Given the description of an element on the screen output the (x, y) to click on. 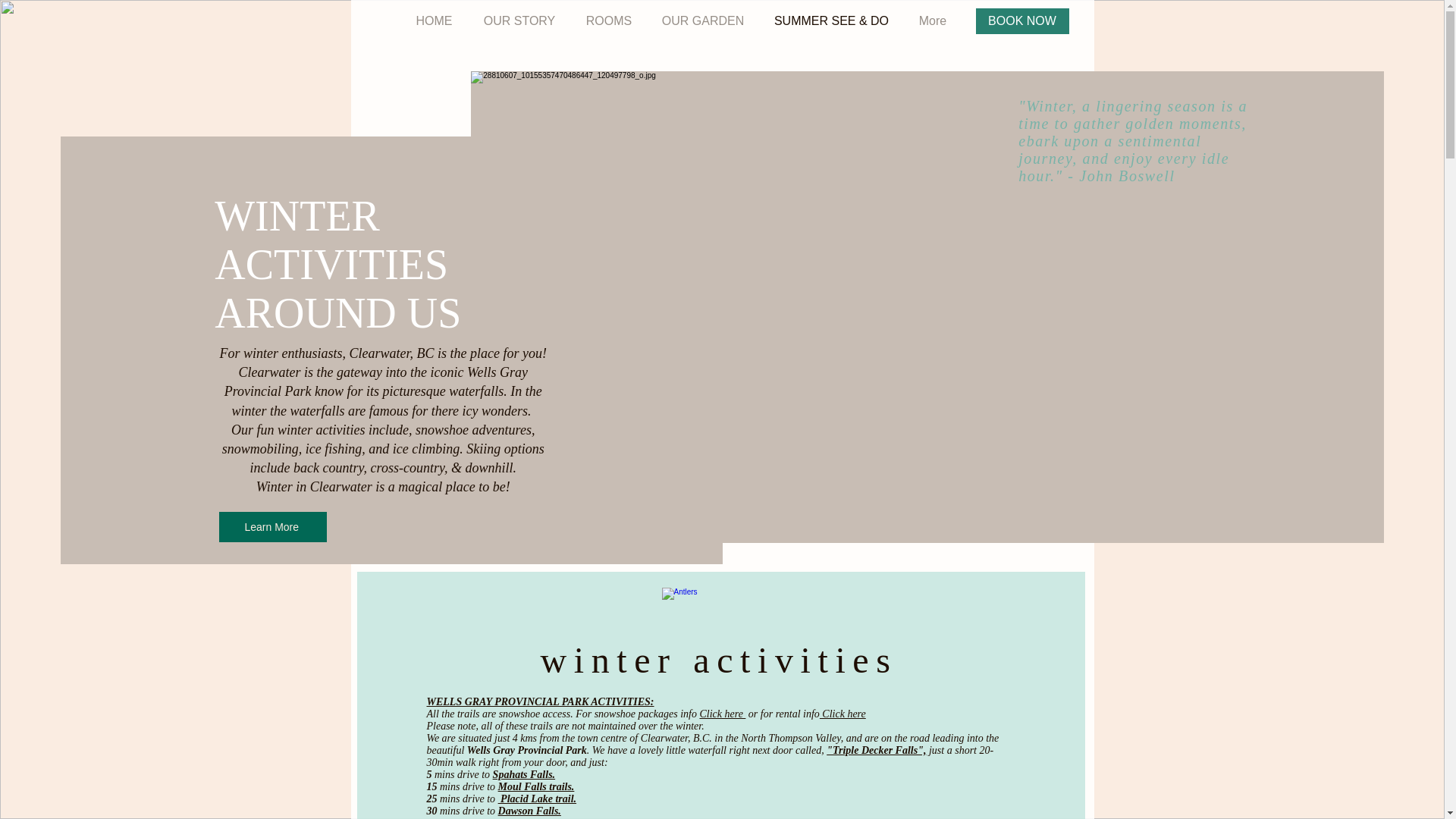
Learn More (272, 526)
ROOMS (608, 21)
HOME (433, 21)
 Click here (842, 713)
OUR GARDEN (702, 21)
OUR STORY (518, 21)
BOOK NOW (1021, 21)
